Given the description of an element on the screen output the (x, y) to click on. 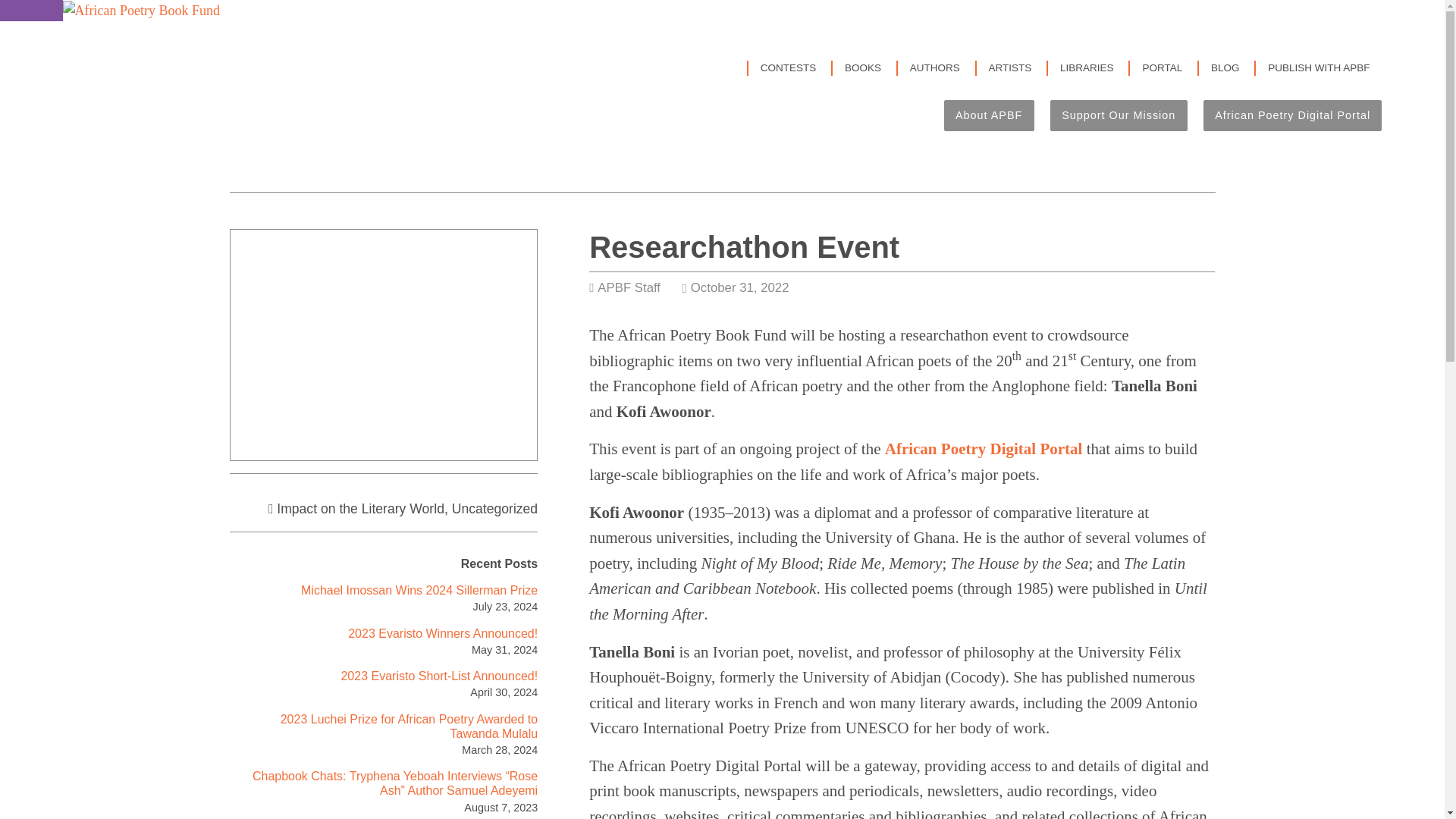
Michael Imossan Wins 2024 Sillerman Prize (419, 590)
ARTISTS (1010, 68)
PUBLISH WITH APBF (1319, 68)
Uncategorized (494, 508)
AUTHORS (934, 68)
CONTESTS (788, 68)
About APBF (988, 115)
October 31, 2022 (739, 287)
Impact on the Literary World (360, 508)
